Given the description of an element on the screen output the (x, y) to click on. 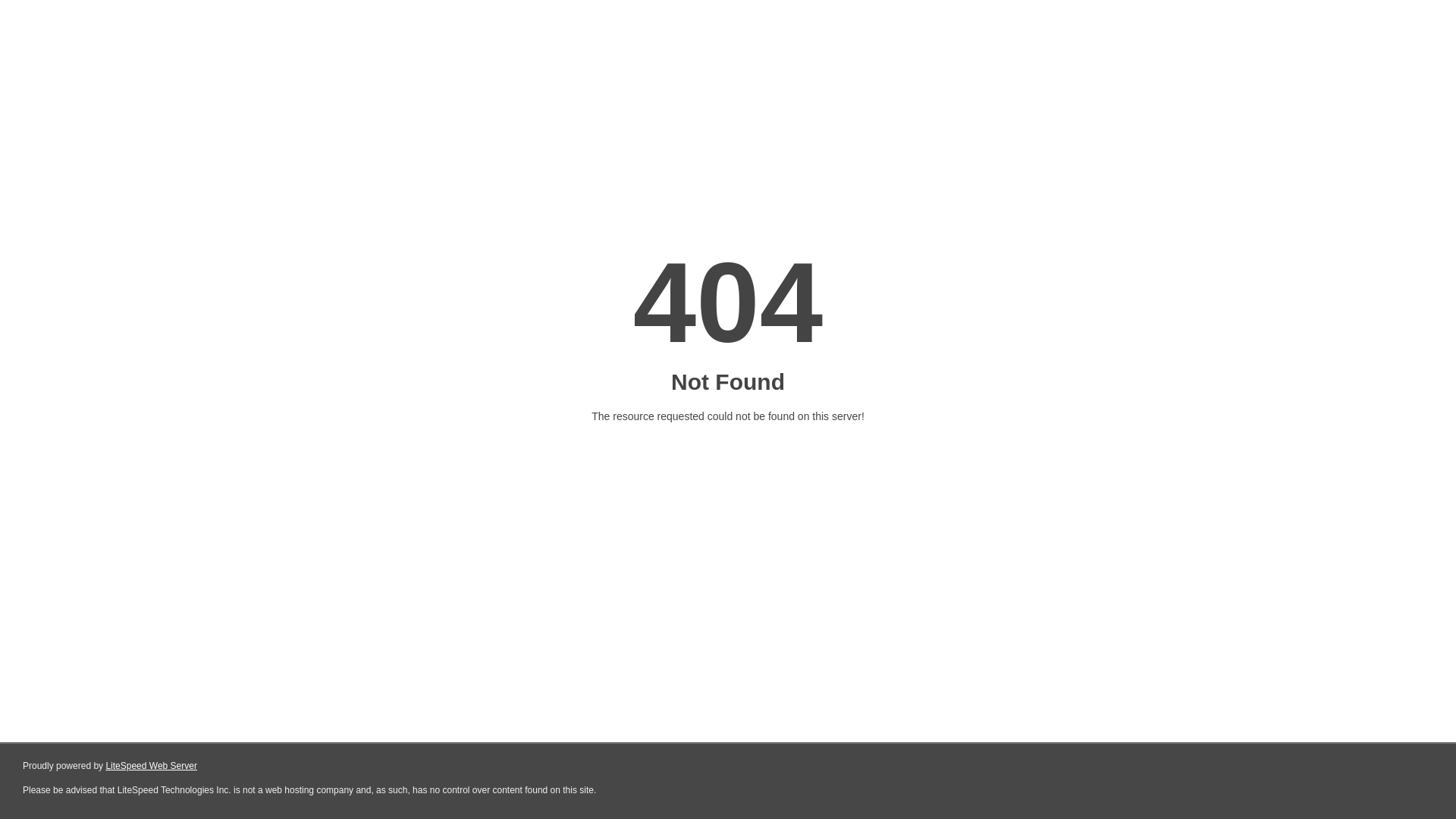
LiteSpeed Web Server Element type: text (151, 765)
